Given the description of an element on the screen output the (x, y) to click on. 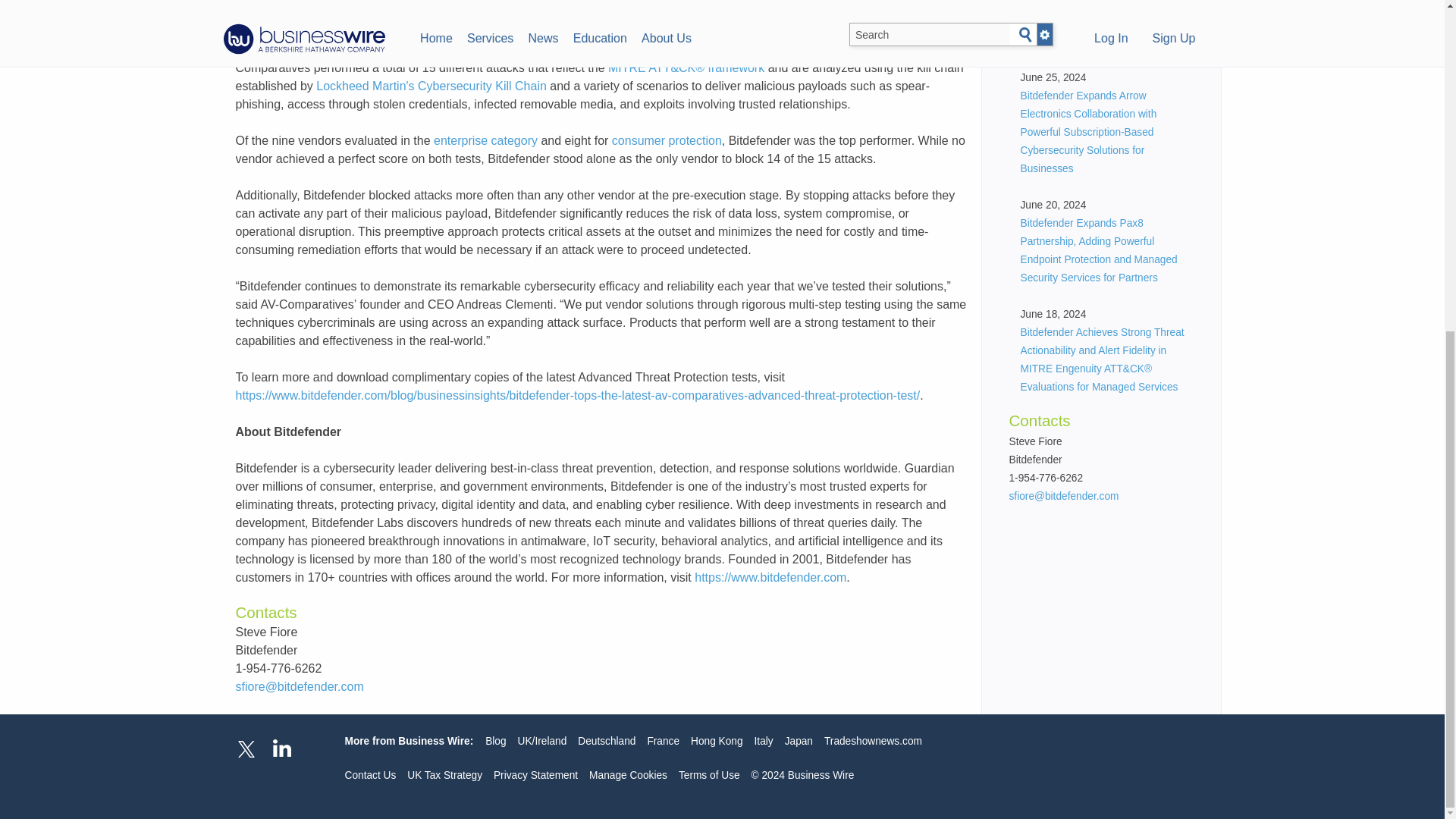
consumer protection (666, 140)
Lockheed Martin's Cybersecurity Kill Chain (431, 85)
Blog Bitdefender Business Insights (1090, 18)
enterprise category (485, 140)
RSS feed for Bitdefender (1097, 58)
